Given the description of an element on the screen output the (x, y) to click on. 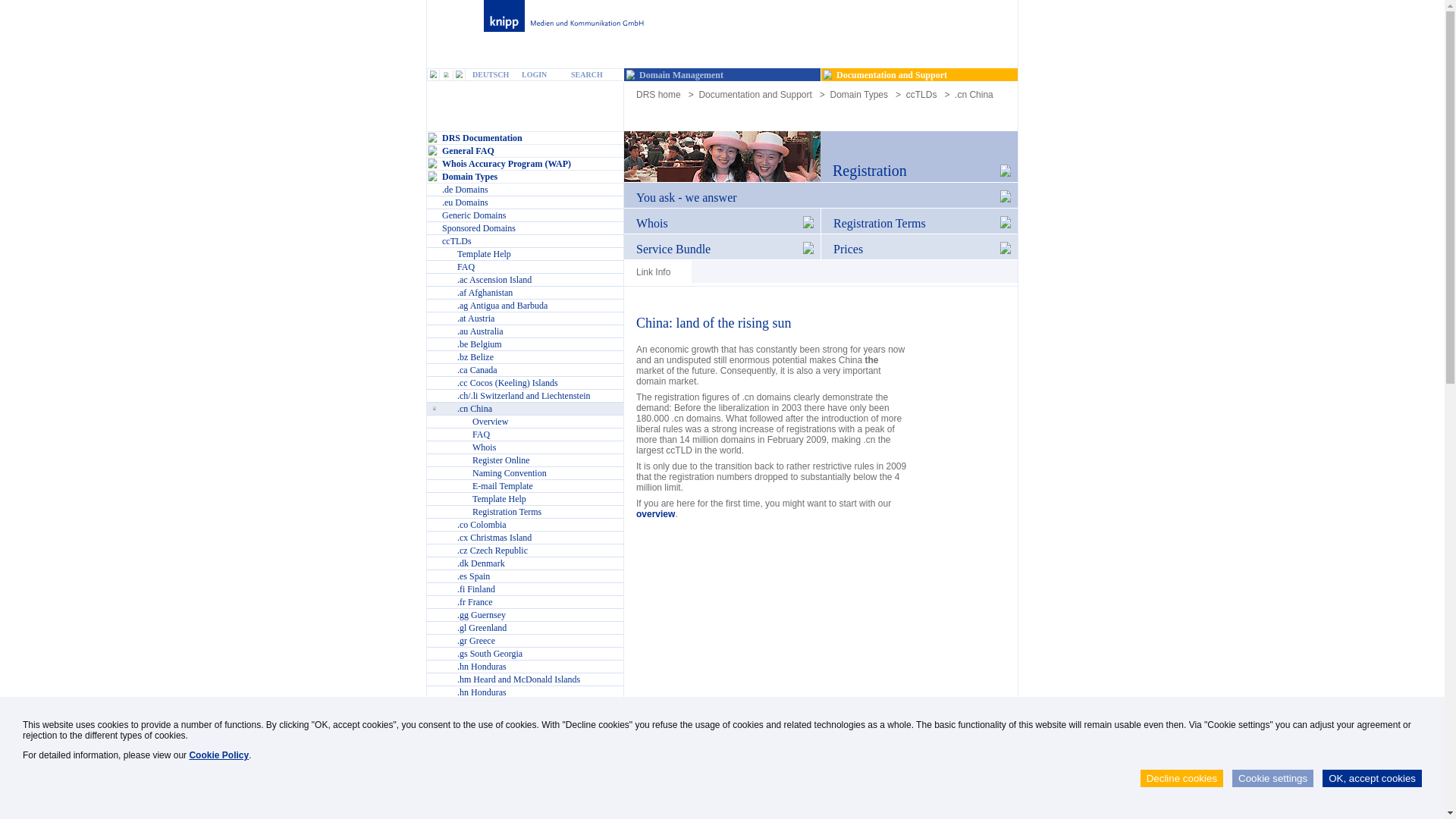
FAQ (524, 267)
Prices (919, 255)
.de Domains (524, 189)
You ask - we answer (820, 204)
Whois (722, 230)
Domain Types (858, 94)
ccTLDs (921, 94)
LOGIN (539, 74)
Template Help (524, 254)
Service Bundle (722, 255)
Domain Types (524, 176)
overview (655, 513)
Cookie settings (1272, 778)
Decline cookies (1181, 778)
DRS home (658, 94)
